Given the description of an element on the screen output the (x, y) to click on. 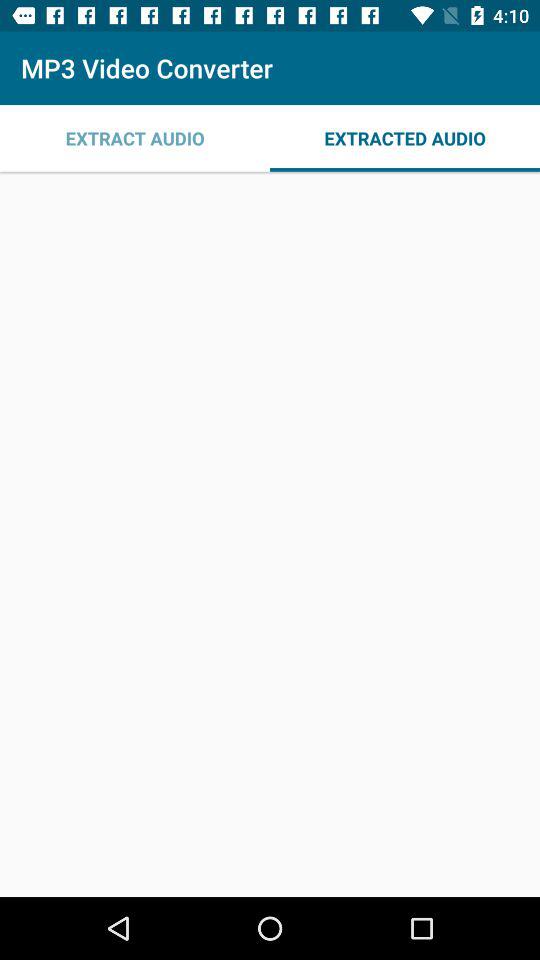
swipe until extracted audio icon (405, 138)
